Given the description of an element on the screen output the (x, y) to click on. 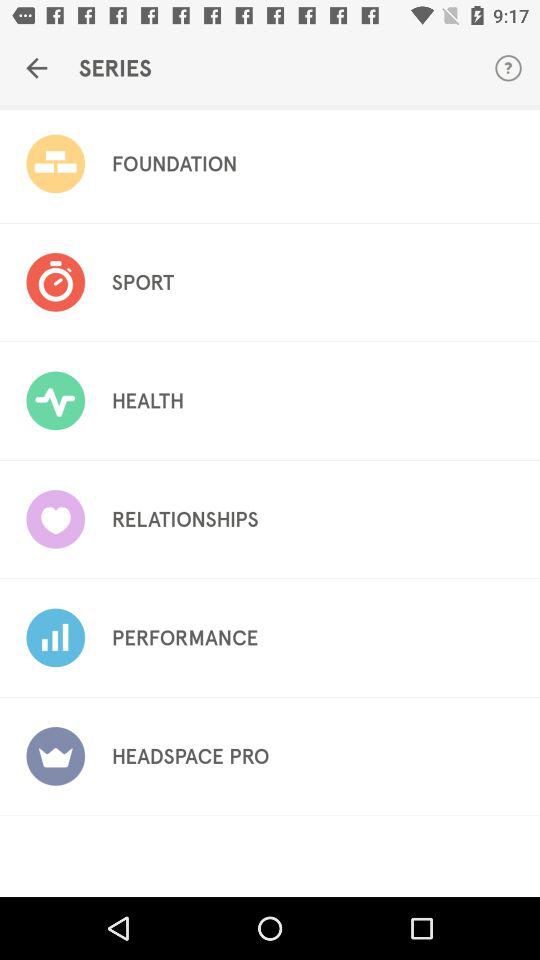
turn on performance (184, 638)
